Given the description of an element on the screen output the (x, y) to click on. 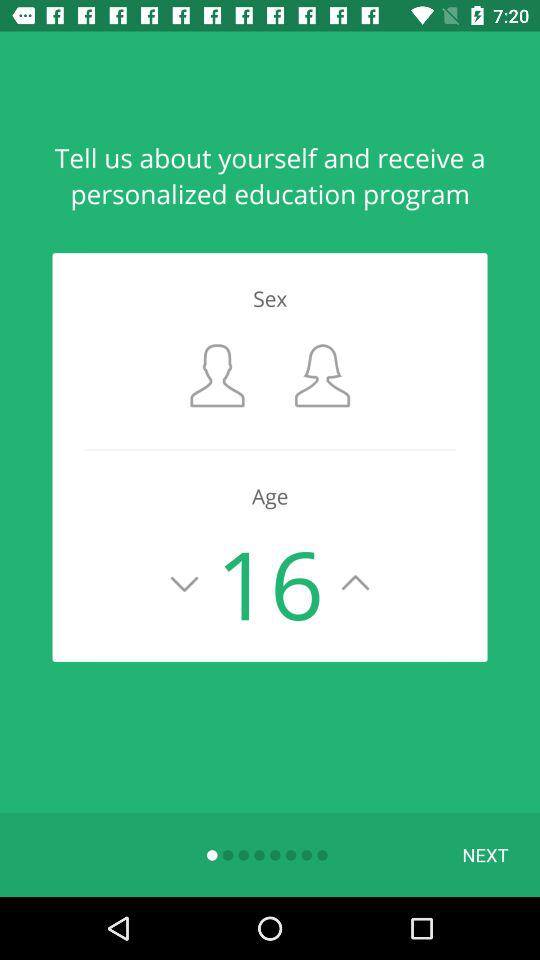
increase age (355, 583)
